Given the description of an element on the screen output the (x, y) to click on. 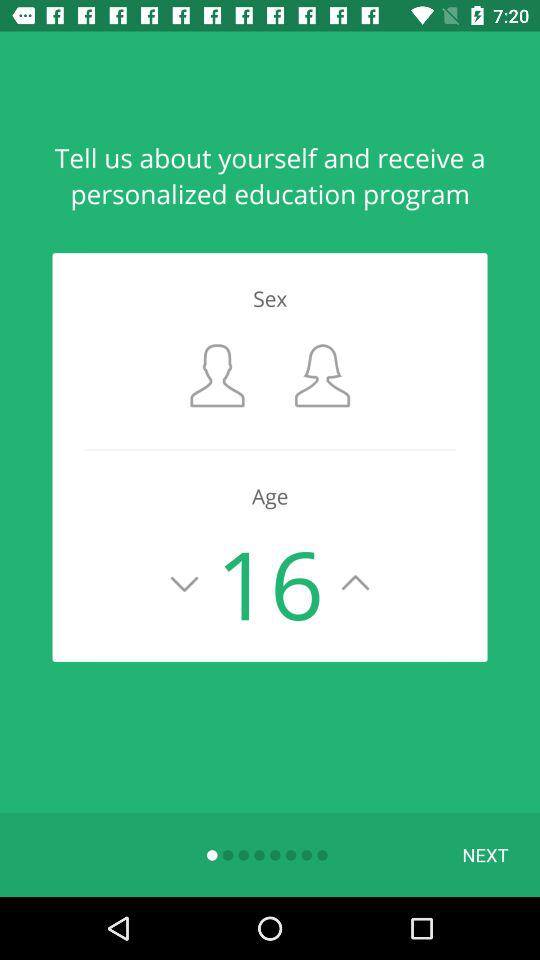
increase age (355, 583)
